Given the description of an element on the screen output the (x, y) to click on. 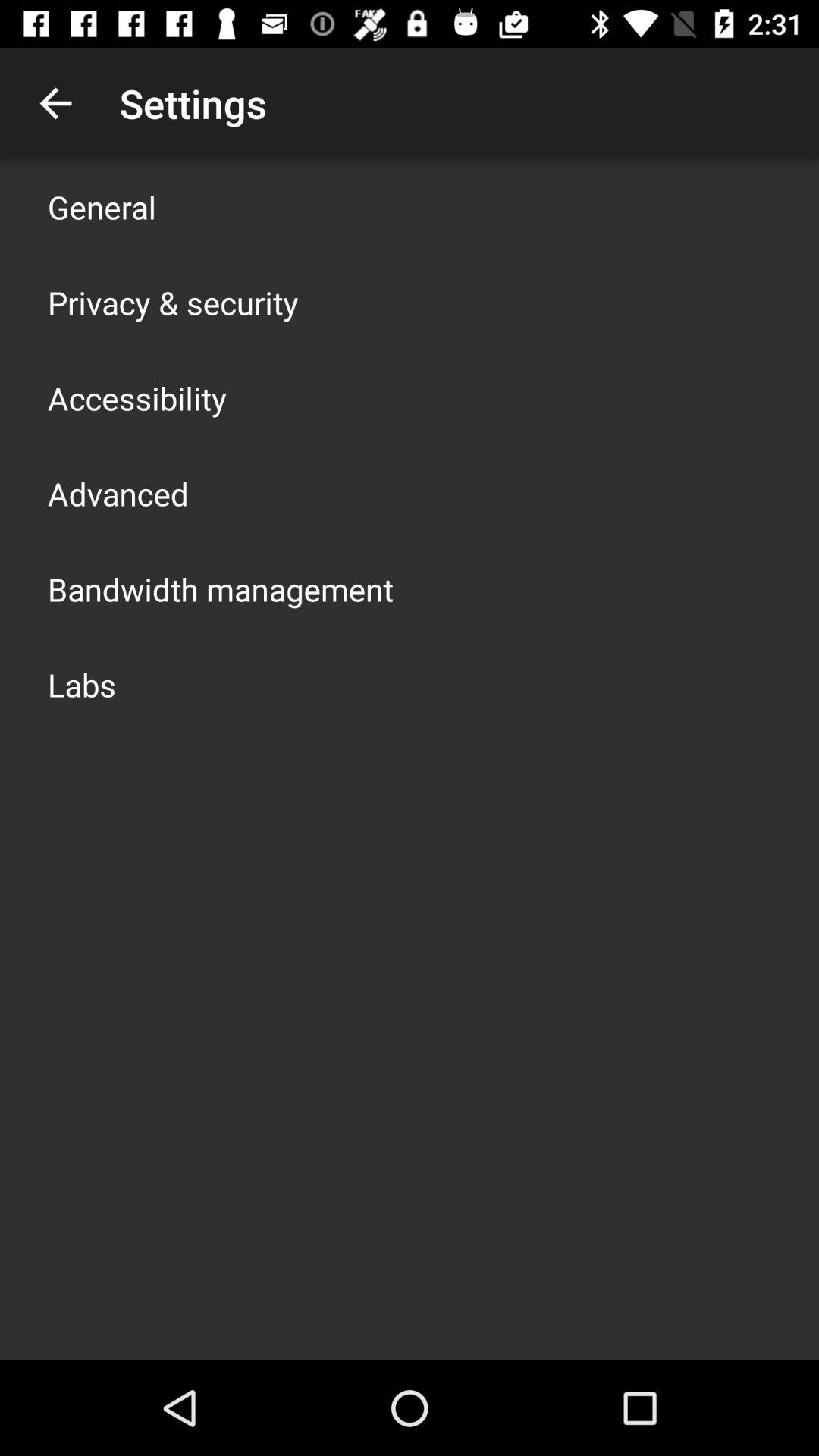
click the item below the general (172, 302)
